Given the description of an element on the screen output the (x, y) to click on. 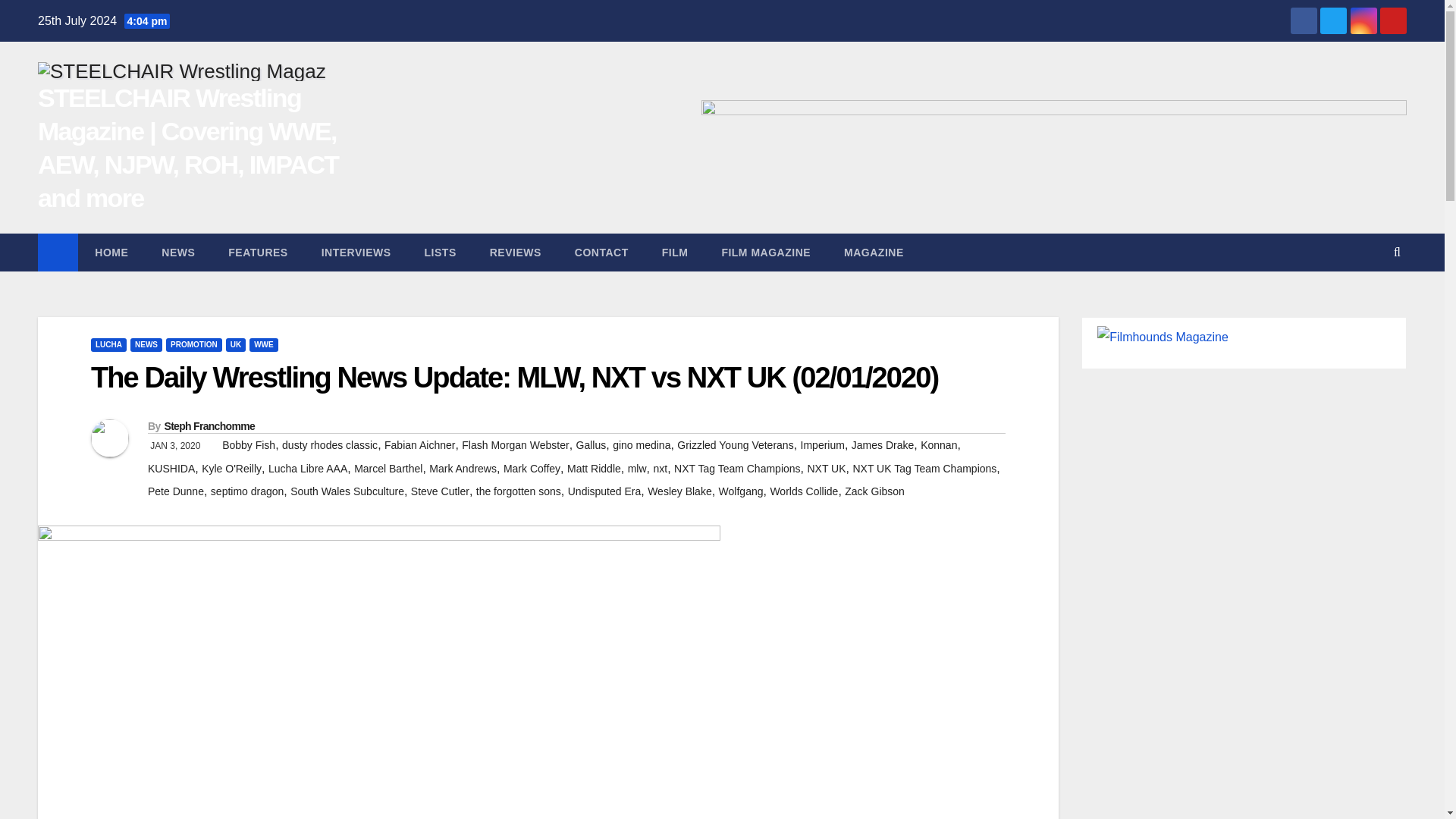
Imperium (822, 444)
FEATURES (257, 252)
Grizzled Young Veterans (735, 444)
CONTACT (601, 252)
INTERVIEWS (355, 252)
NEWS (146, 345)
UK (235, 345)
LISTS (440, 252)
gino medina (640, 444)
FILM MAGAZINE (765, 252)
Steph Franchomme (208, 426)
MAGAZINE (873, 252)
HOME (111, 252)
NEWS (177, 252)
REVIEWS (515, 252)
